Given the description of an element on the screen output the (x, y) to click on. 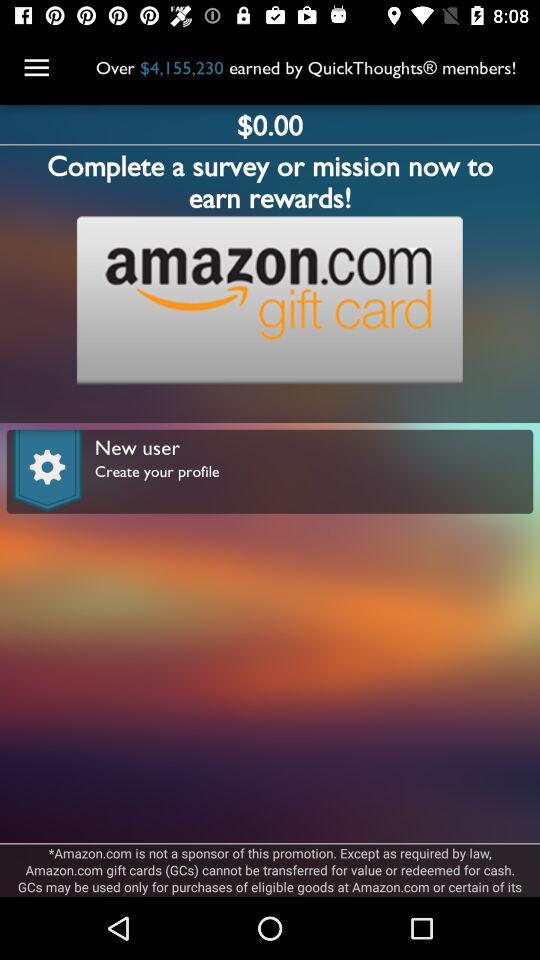
tap icon to the left of over 4 155 item (36, 68)
